Given the description of an element on the screen output the (x, y) to click on. 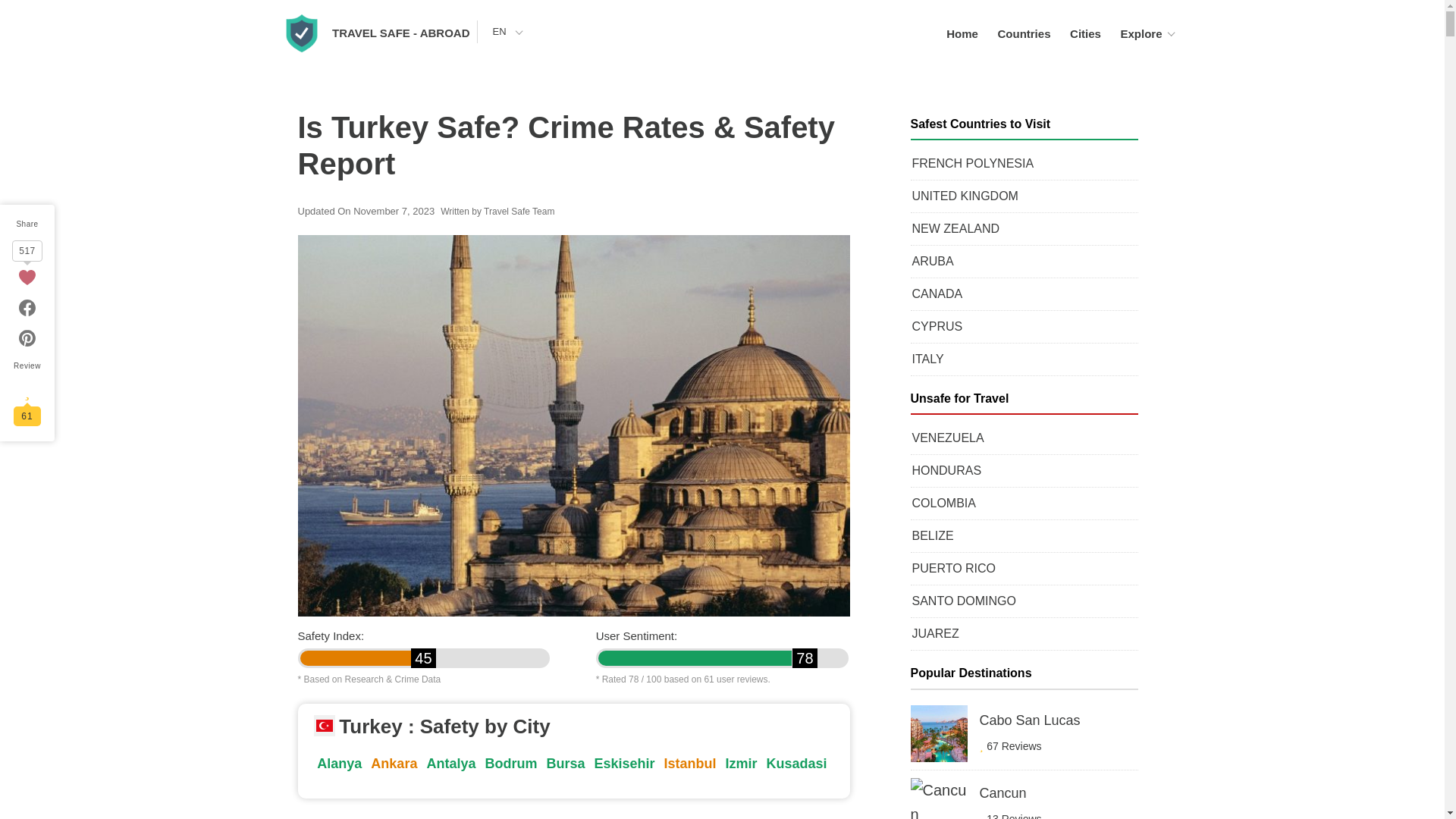
Cities (1085, 33)
Eskisehir (624, 763)
Istanbul (690, 763)
Bursa Safety Review (565, 763)
Ankara (394, 763)
Antalya (451, 763)
Eskisehir Safety Review (624, 763)
Bodrum Safety Review (510, 763)
Bodrum (510, 763)
